Given the description of an element on the screen output the (x, y) to click on. 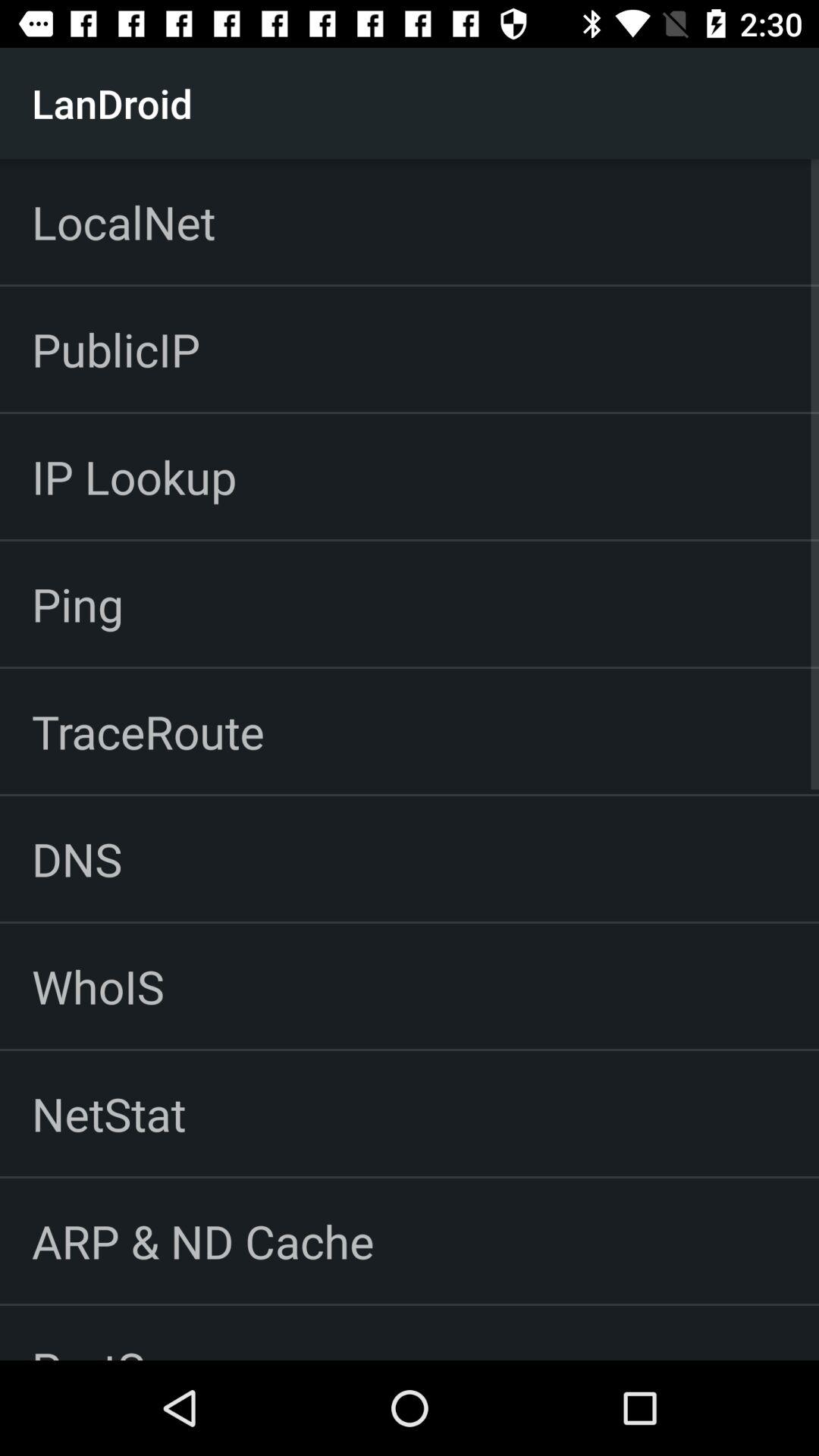
turn on traceroute icon (148, 730)
